Given the description of an element on the screen output the (x, y) to click on. 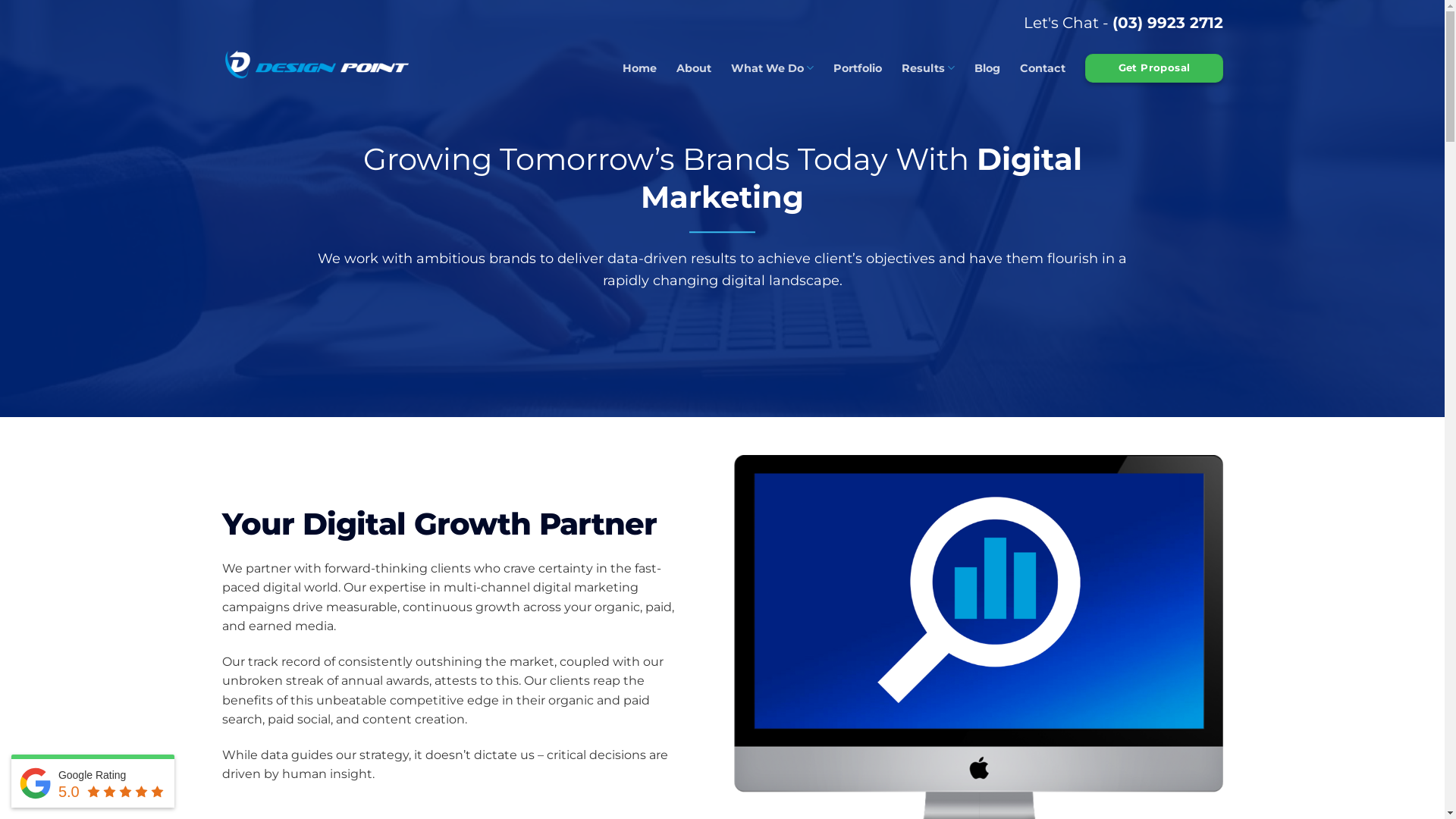
Blog Element type: text (987, 67)
What We Do Element type: text (772, 67)
Portfolio Element type: text (857, 67)
(03) 9923 2712 Element type: text (1166, 22)
About Element type: text (693, 67)
Results Element type: text (927, 67)
Home Element type: text (639, 67)
Contact Element type: text (1042, 67)
Get Proposal Element type: text (1153, 67)
